Given the description of an element on the screen output the (x, y) to click on. 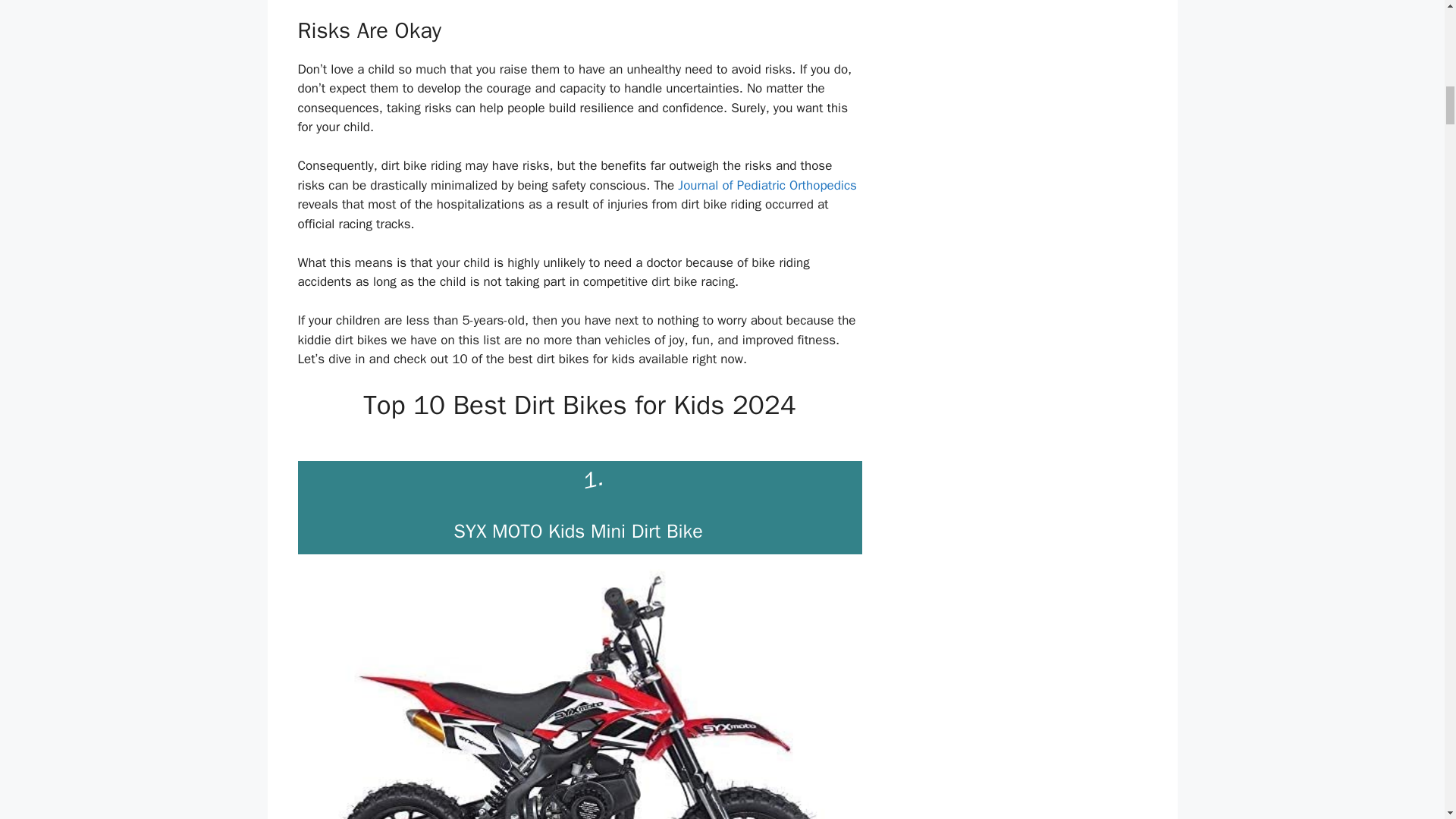
Journal of Pediatric Orthopedics (767, 185)
SYX MOTO Kids Mini Dirt Bike (577, 530)
SYX MOTO Kids Mini Dirt Bike (577, 530)
